Given the description of an element on the screen output the (x, y) to click on. 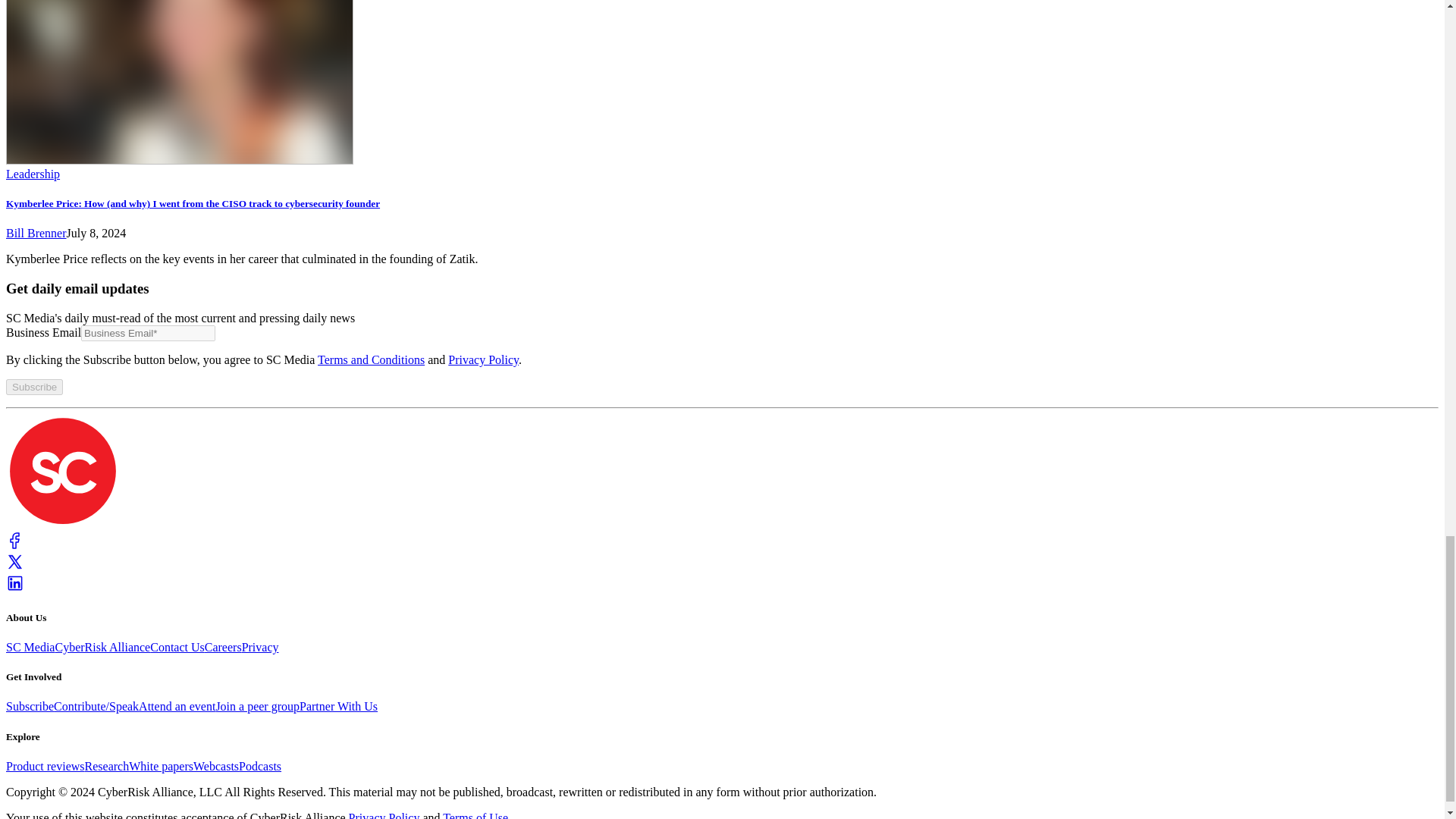
Careers (223, 646)
Privacy Policy (483, 359)
SCMagazine on LinkedIn (14, 587)
Privacy (260, 646)
CyberRisk Alliance (102, 646)
SC Media (62, 523)
Leadership (32, 173)
SCMagazine on Twitter (14, 566)
Bill Brenner (35, 232)
Subscribe (29, 706)
Subscribe (33, 386)
Terms and Conditions (371, 359)
Contact Us (177, 646)
SCMagazine on Facebook (14, 545)
SC Media (30, 646)
